Given the description of an element on the screen output the (x, y) to click on. 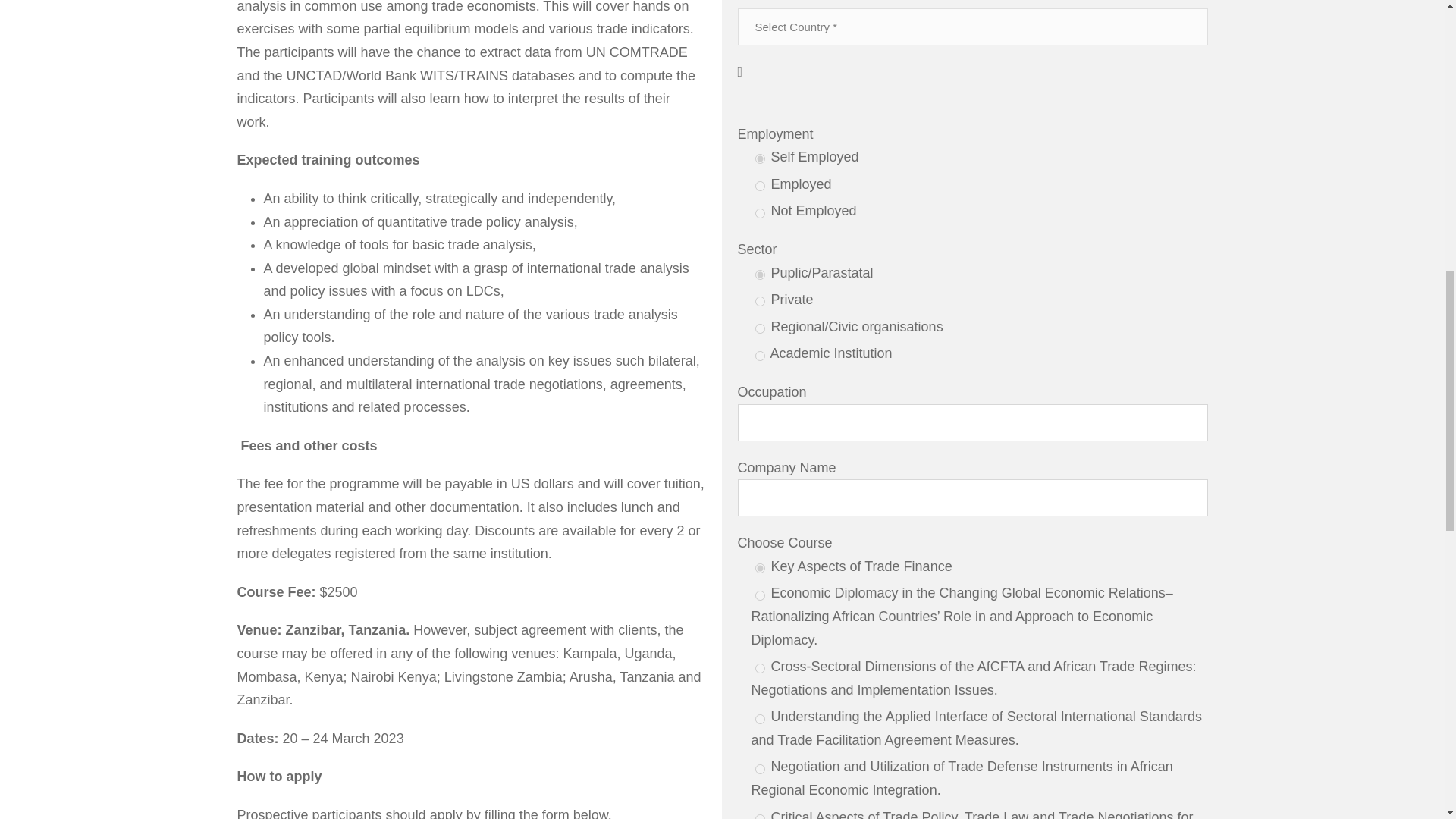
Key Aspects of Trade Finance (760, 568)
Self Employed (760, 158)
Employed (760, 185)
Not Employed (760, 213)
Academic Institution (760, 356)
Private (760, 301)
